Given the description of an element on the screen output the (x, y) to click on. 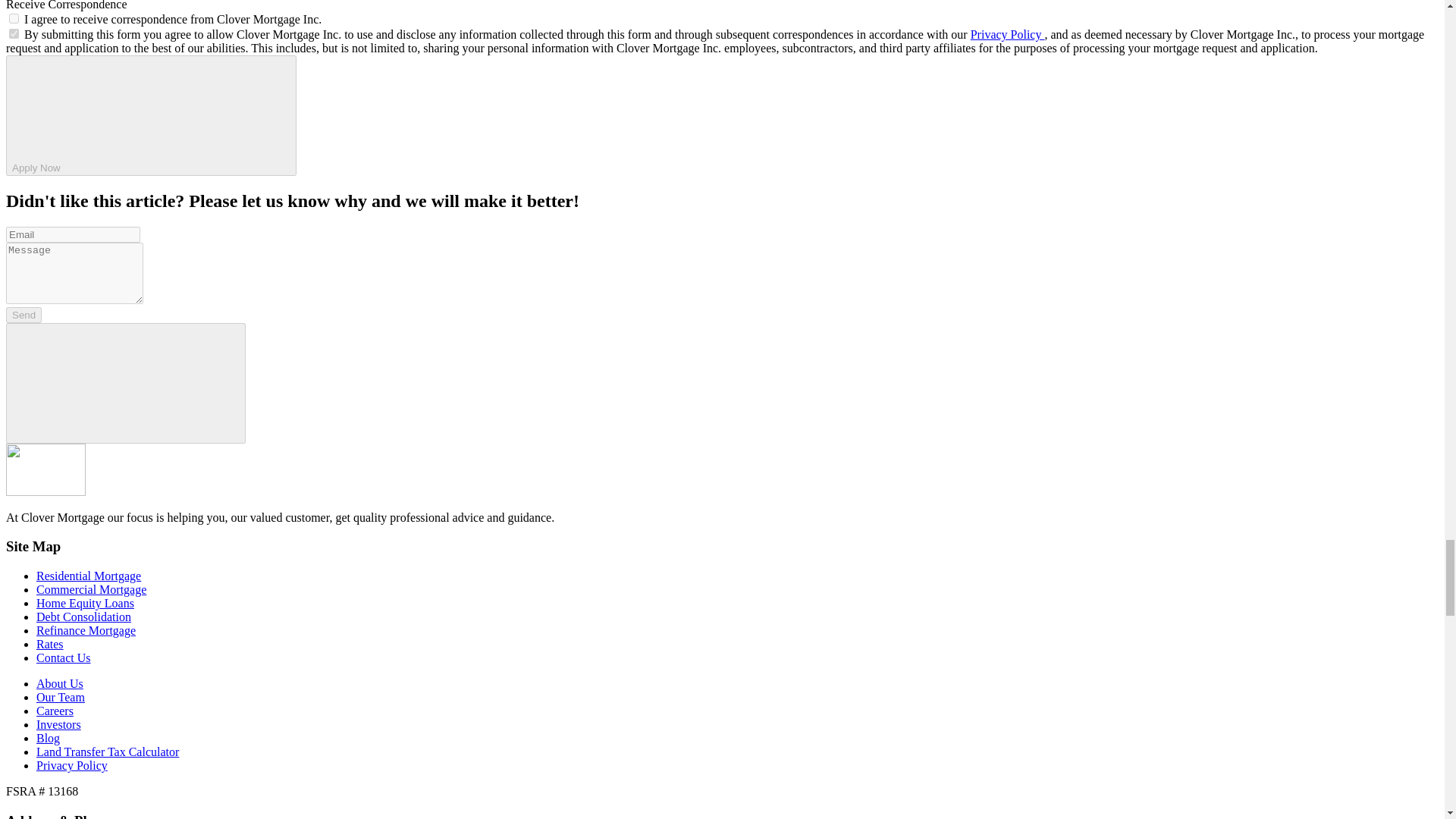
Yes (13, 33)
Yes (13, 18)
